Given the description of an element on the screen output the (x, y) to click on. 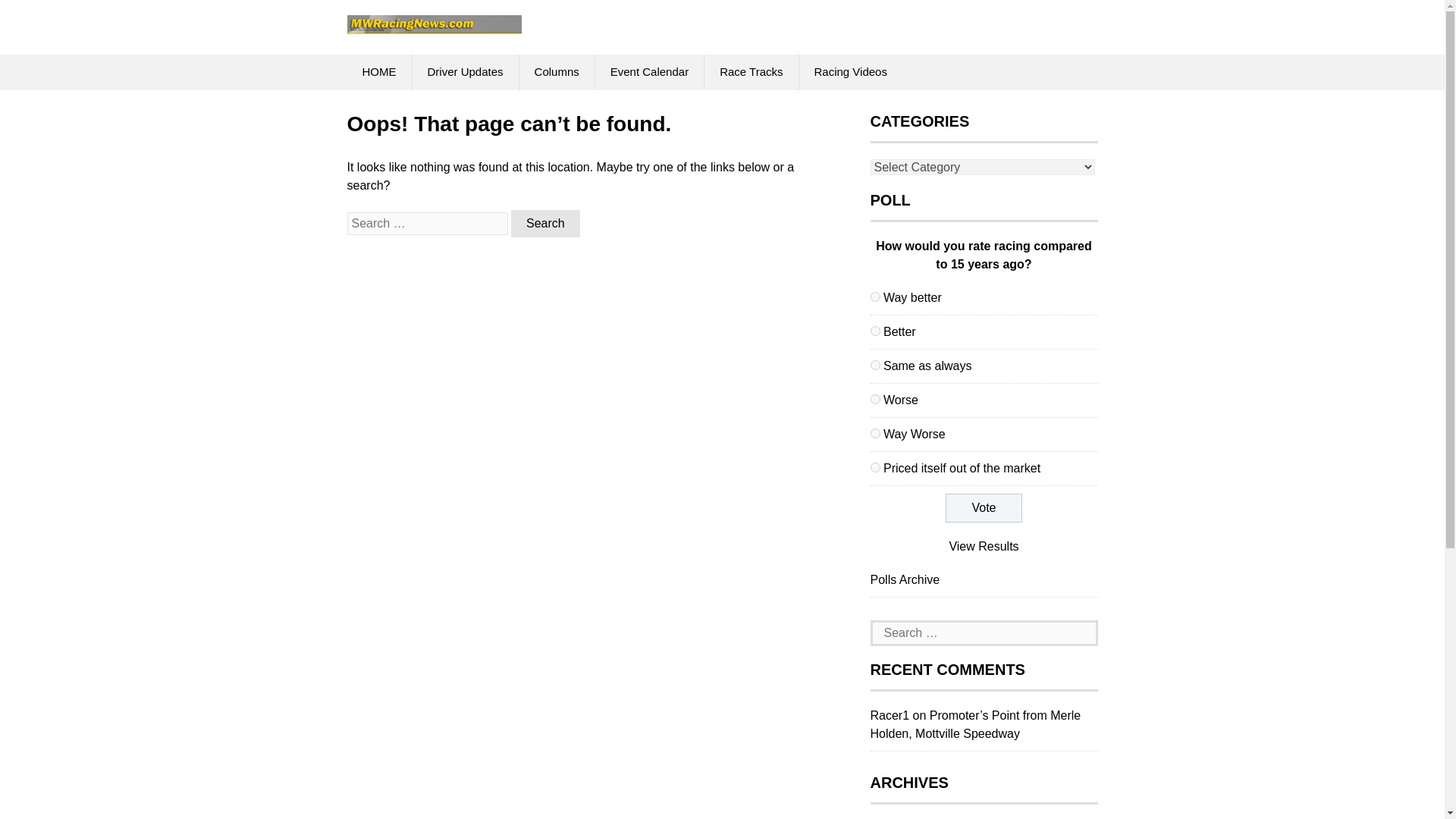
17 (875, 330)
Driver Updates (465, 72)
Search (545, 223)
21 (875, 467)
   Vote    (983, 507)
View Results Of This Poll (983, 545)
Search (545, 223)
HOME (379, 72)
16 (875, 296)
18 (875, 365)
Columns (556, 72)
Search (545, 223)
Race Tracks (750, 72)
Event Calendar (649, 72)
20 (875, 433)
